Given the description of an element on the screen output the (x, y) to click on. 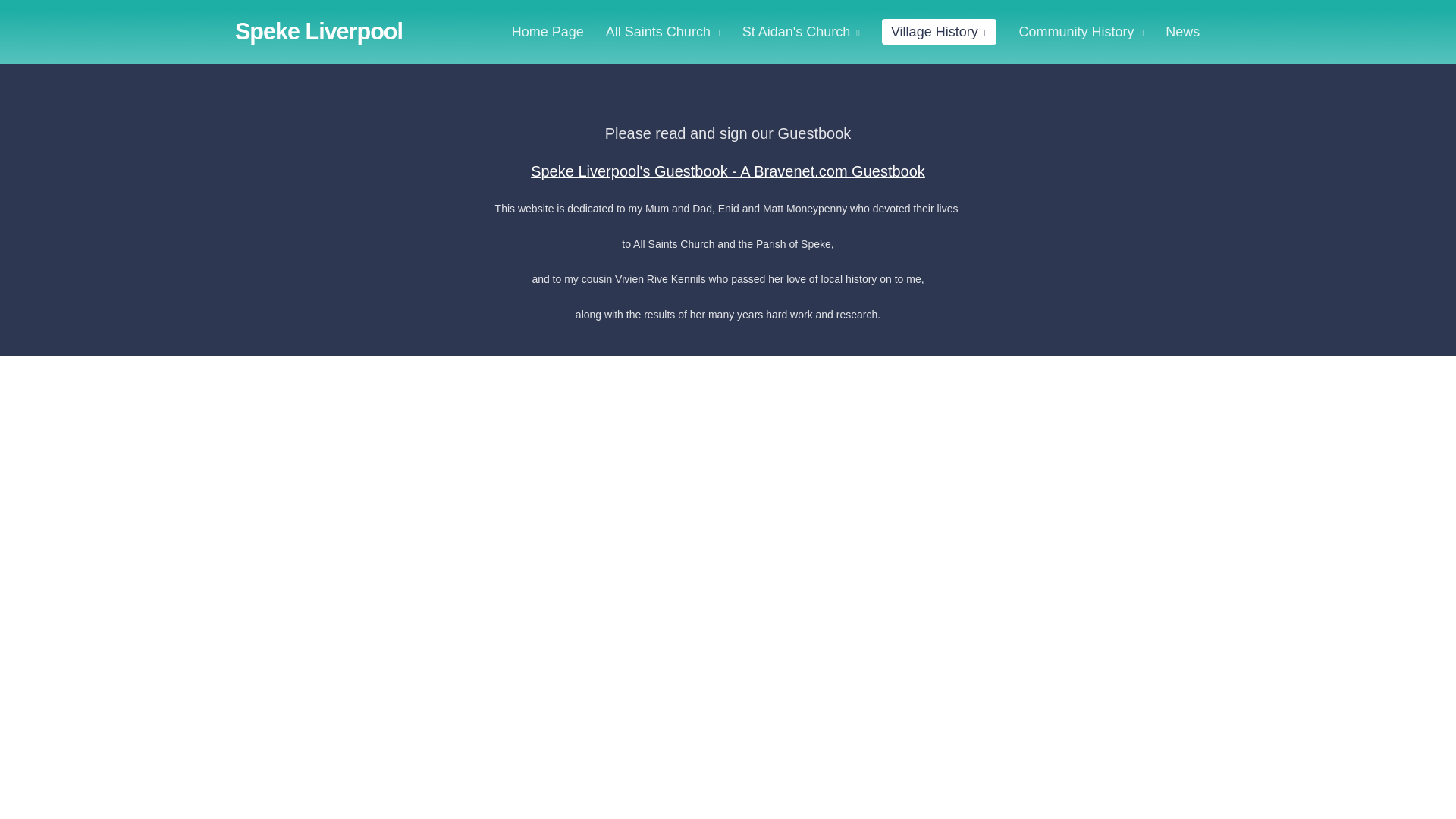
Speke Liverpool (318, 31)
Home Page (547, 31)
News (1182, 31)
Speke Liverpool's Guestbook - A Bravenet.com Guestbook (727, 171)
